Given the description of an element on the screen output the (x, y) to click on. 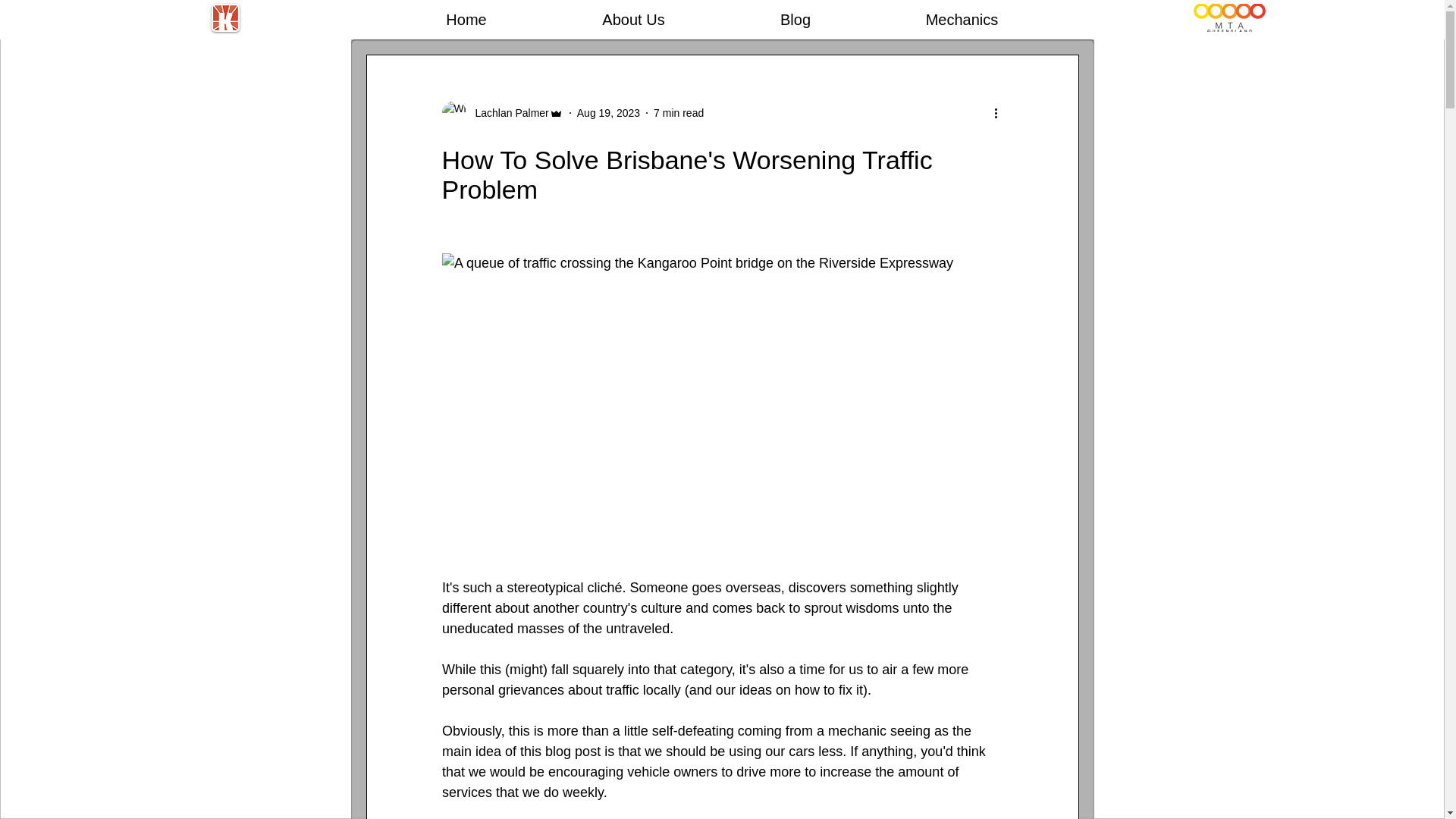
Blog (794, 17)
Lachlan Palmer (501, 112)
Home (466, 17)
Mechanics (962, 17)
About Us (633, 17)
Lachlan Palmer (506, 112)
Aug 19, 2023 (608, 111)
7 min read (678, 111)
